Given the description of an element on the screen output the (x, y) to click on. 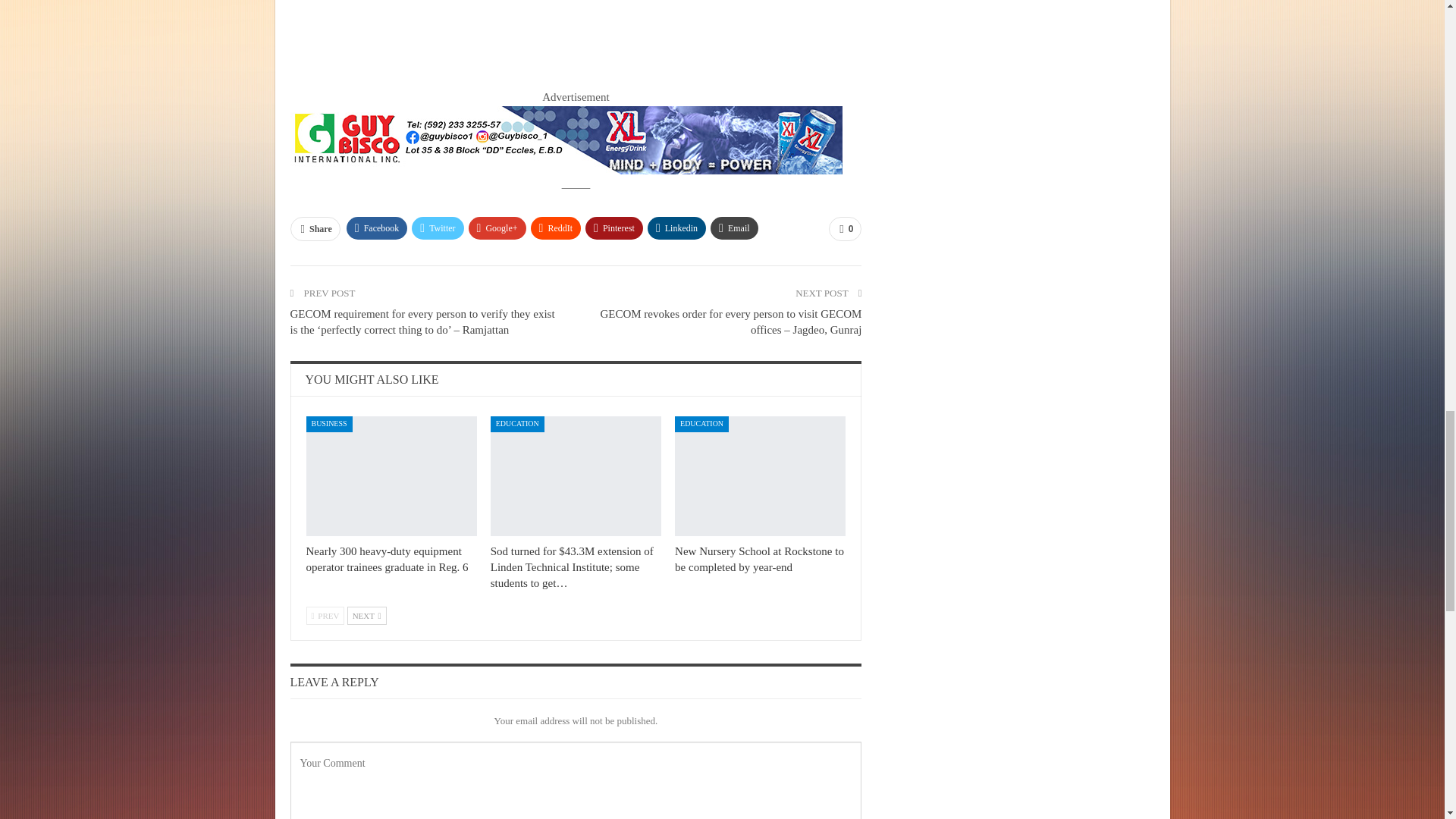
New Nursery School at Rockstone to be completed by year-end (759, 559)
New Nursery School at Rockstone to be completed by year-end (760, 476)
